Given the description of an element on the screen output the (x, y) to click on. 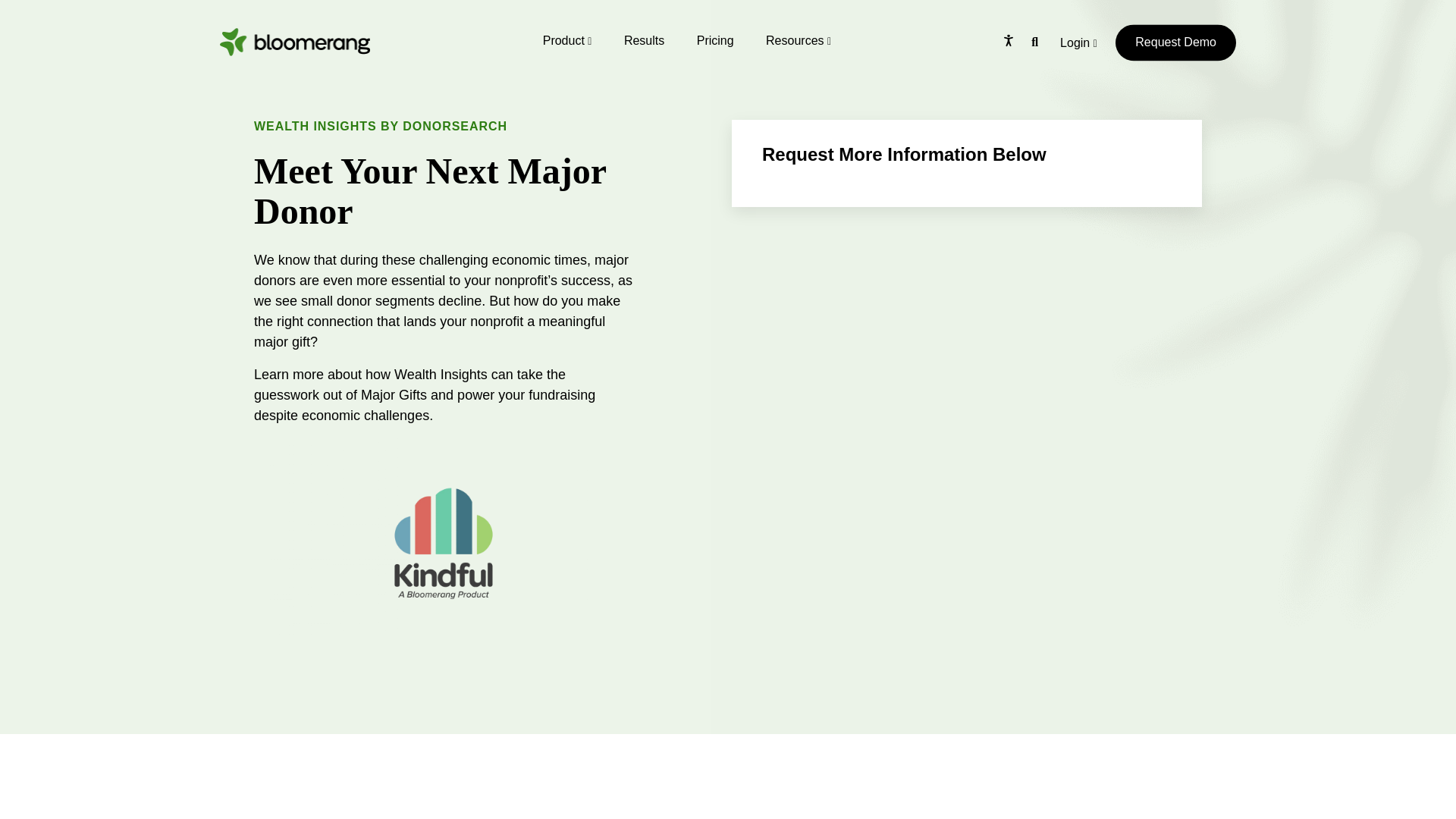
Results (643, 40)
Request Demo (1175, 42)
Pricing (715, 40)
Resources (798, 40)
Product (567, 40)
Login (1078, 50)
